Given the description of an element on the screen output the (x, y) to click on. 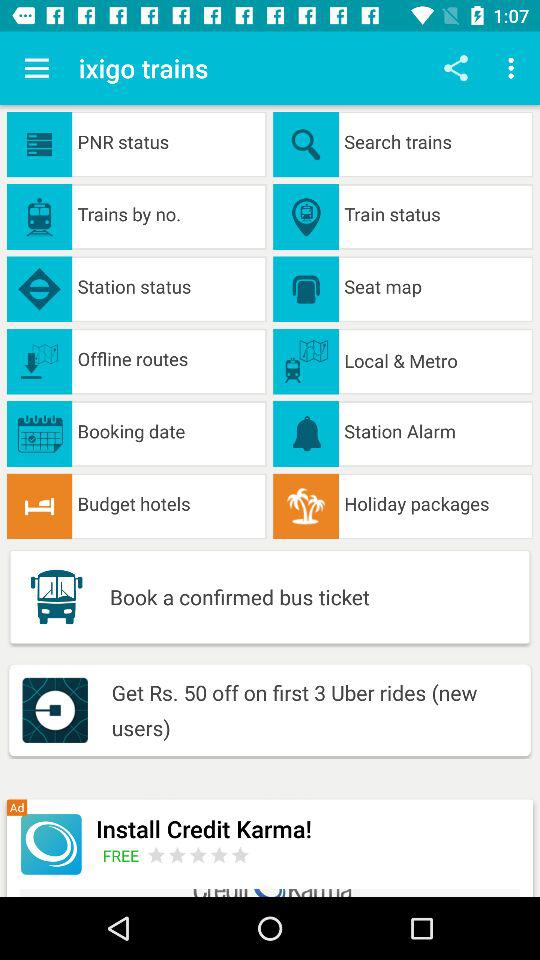
turn off icon above the search trains icon (513, 67)
